Given the description of an element on the screen output the (x, y) to click on. 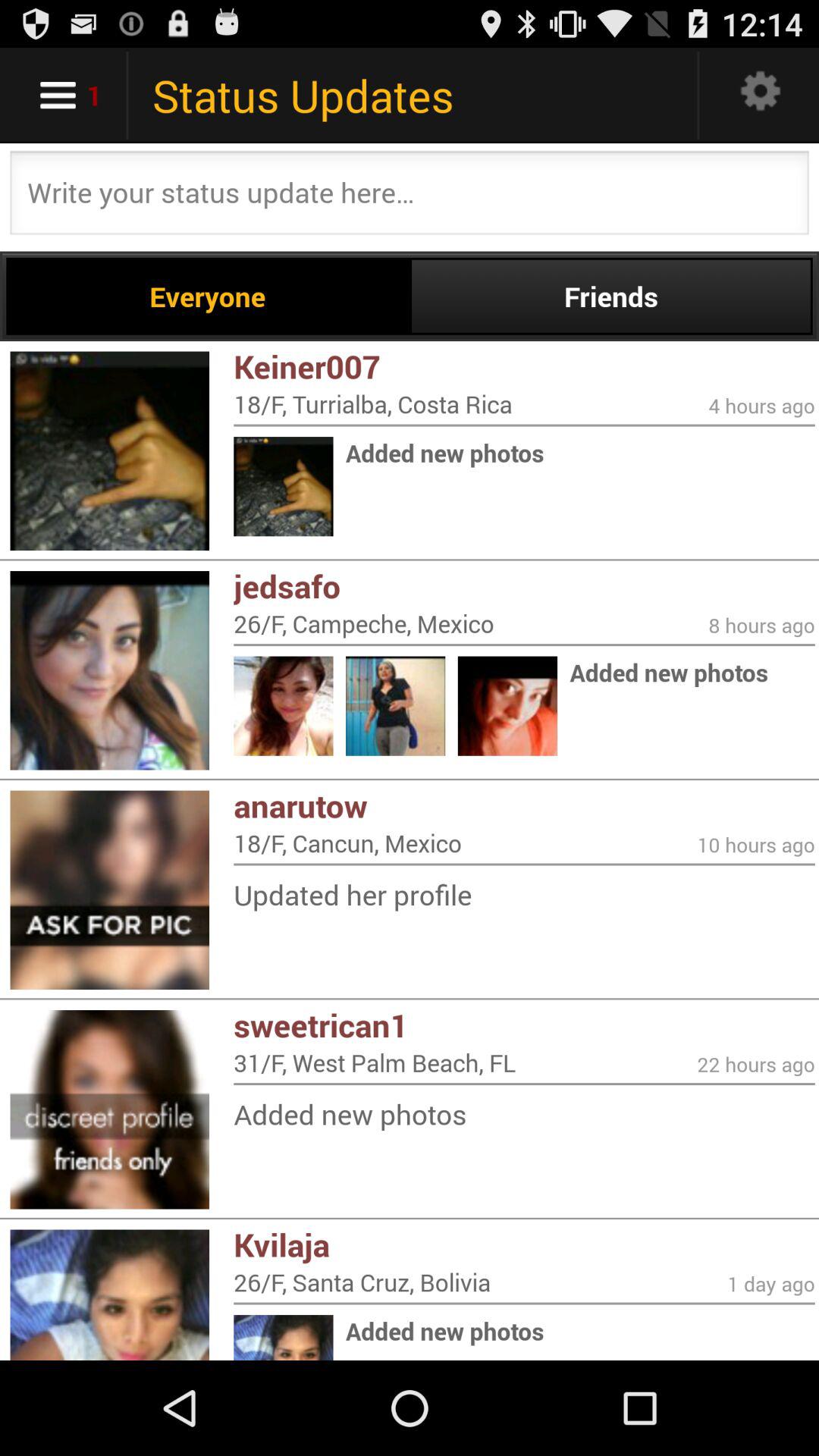
open settings (761, 95)
